Given the description of an element on the screen output the (x, y) to click on. 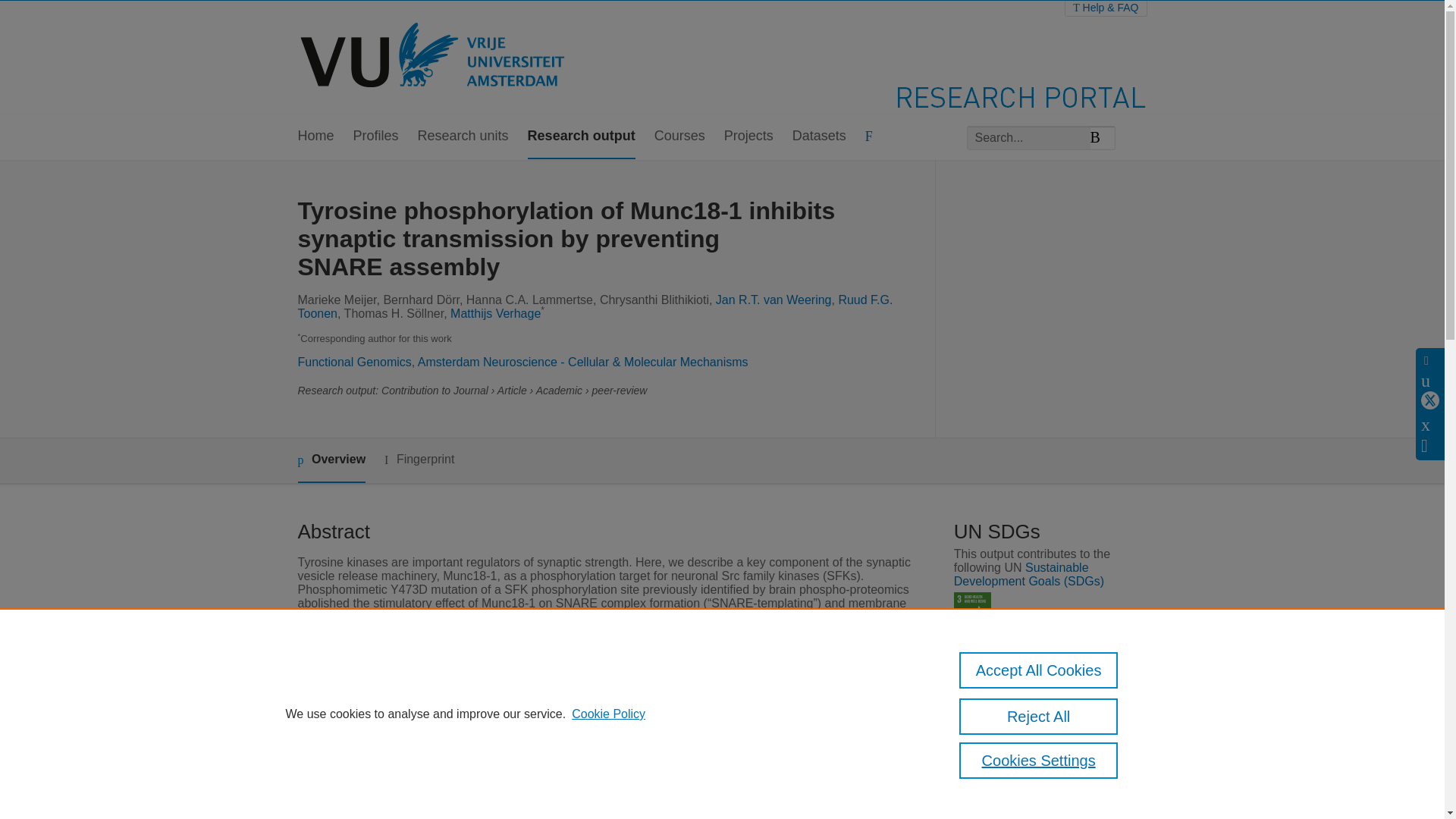
Research units (462, 136)
Courses (678, 136)
Profiles (375, 136)
Matthijs Verhage (494, 313)
Vrije Universiteit Amsterdam Home (433, 57)
Projects (748, 136)
EMBO Journal (550, 814)
Datasets (818, 136)
Research output (580, 136)
SDG 3 - Good Health and Well-being (972, 610)
Functional Genomics (353, 361)
Ruud F.G. Toonen (594, 306)
link to publication in Scopus (1043, 810)
Jan R.T. van Weering (773, 299)
